Given the description of an element on the screen output the (x, y) to click on. 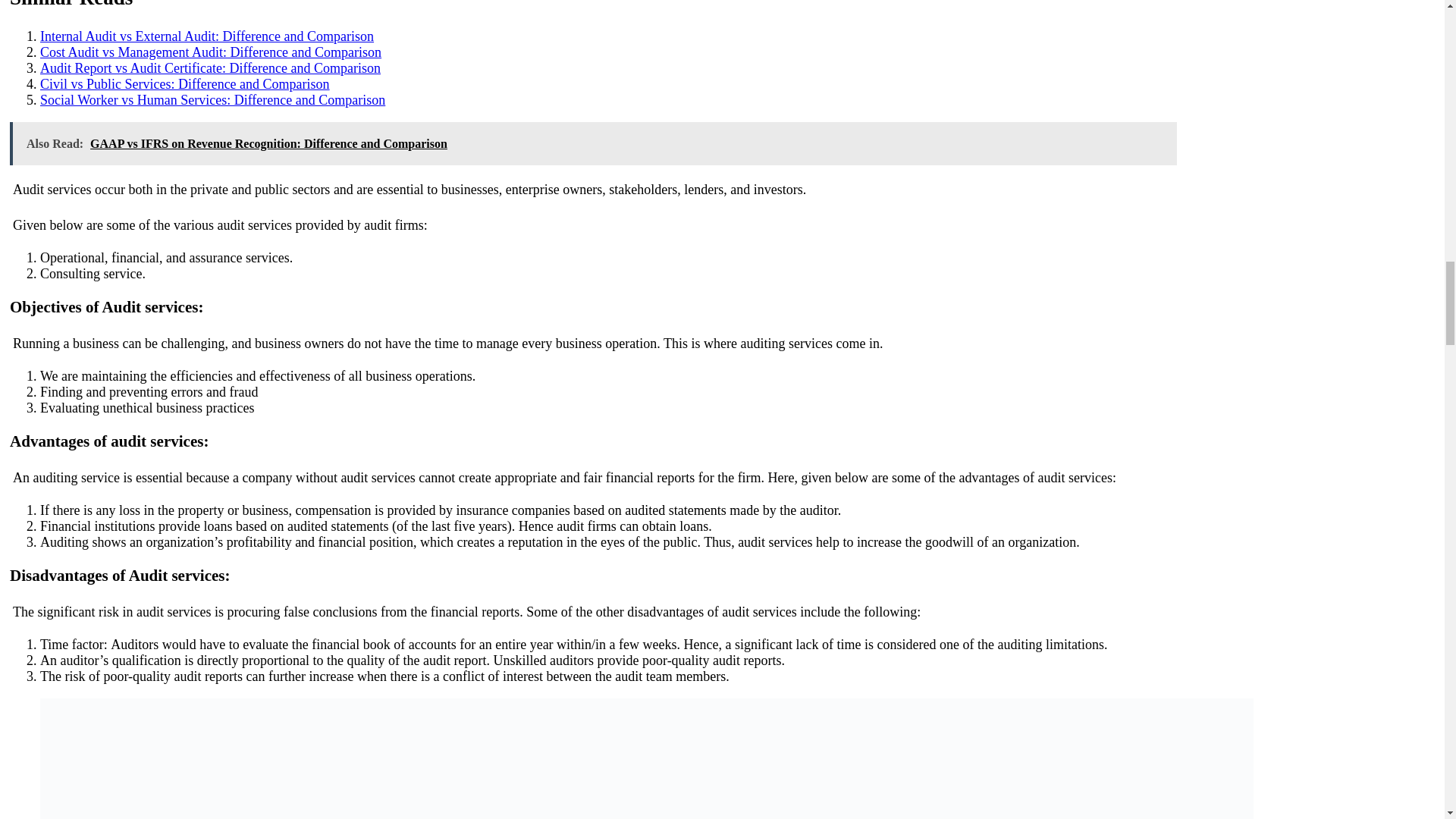
Cost Audit vs Management Audit: Difference and Comparison (210, 52)
Internal Audit vs External Audit: Difference and Comparison (207, 36)
Cost Audit vs Management Audit: Difference and Comparison (210, 52)
Social Worker vs Human Services: Difference and Comparison (212, 99)
Internal Audit vs External Audit: Difference and Comparison (207, 36)
Civil vs Public Services: Difference and Comparison (185, 83)
Audit Report vs Audit Certificate: Difference and Comparison (210, 68)
Audit Report vs Audit Certificate: Difference and Comparison (210, 68)
